Given the description of an element on the screen output the (x, y) to click on. 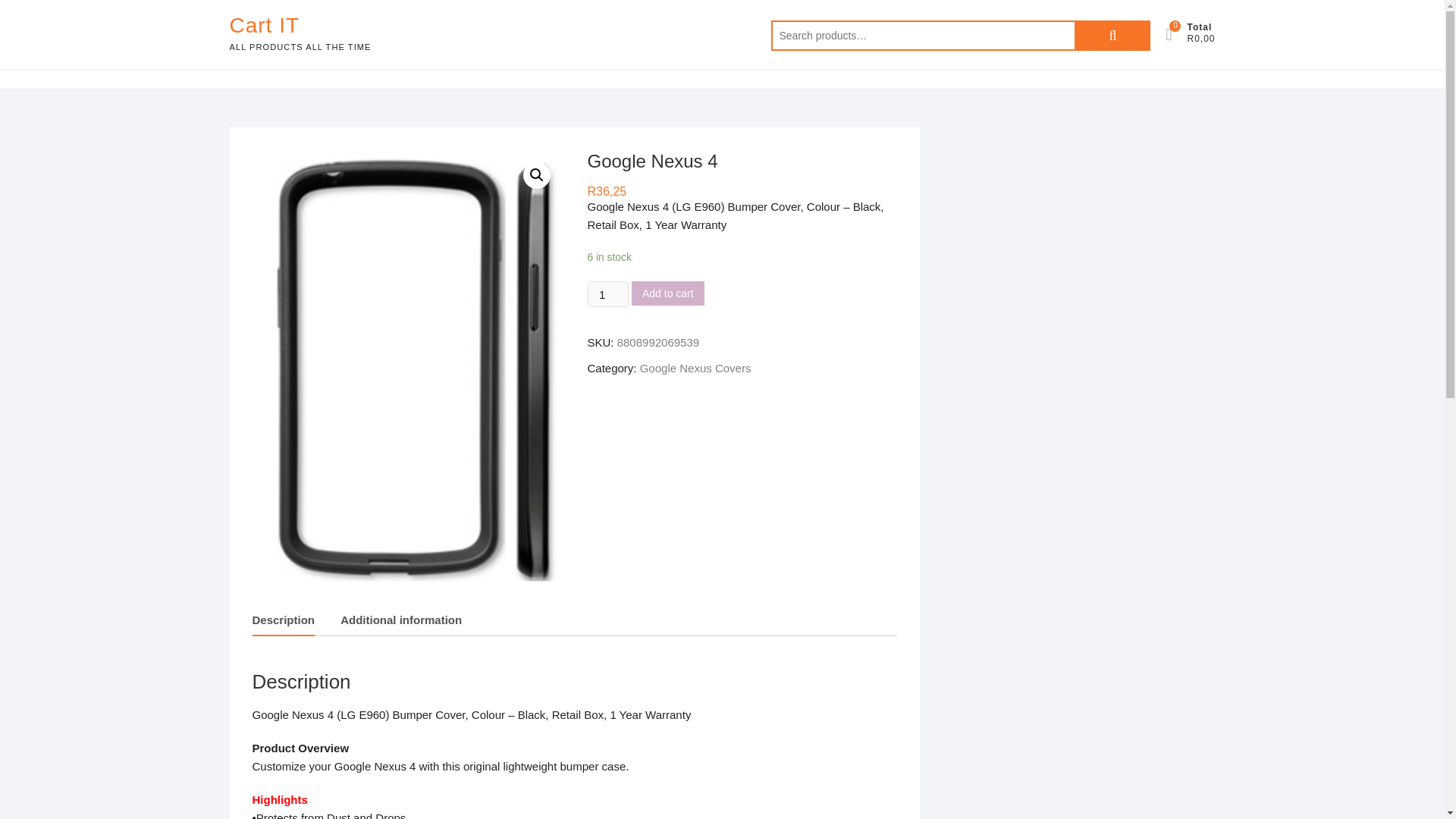
Cart IT (299, 25)
Description (282, 619)
Search (1112, 35)
Cart IT (299, 25)
Add to cart (667, 292)
1 (606, 294)
Google Nexus Covers (695, 367)
Additional information (400, 619)
